Given the description of an element on the screen output the (x, y) to click on. 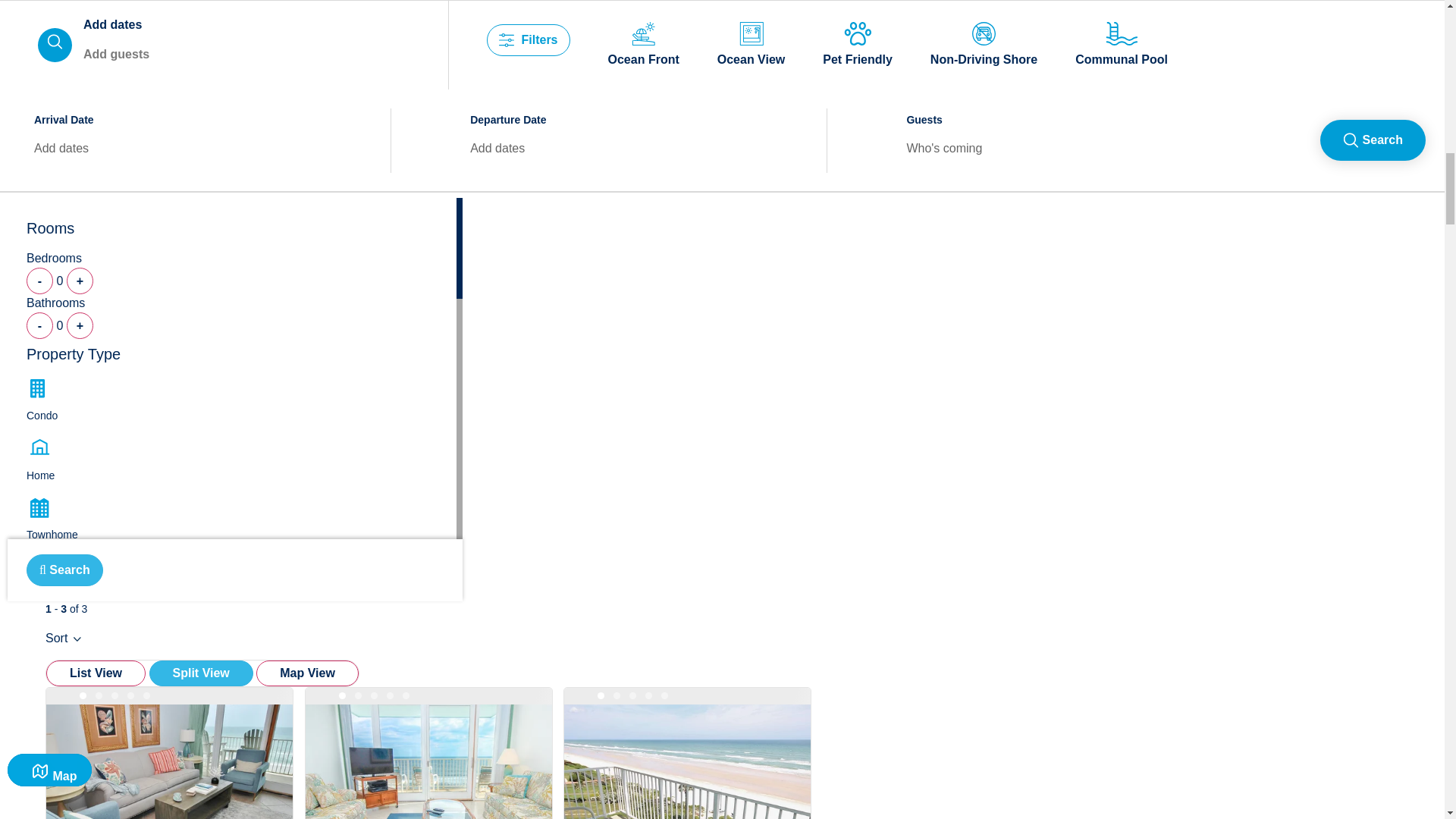
true (34, 802)
true (34, 817)
